Given the description of an element on the screen output the (x, y) to click on. 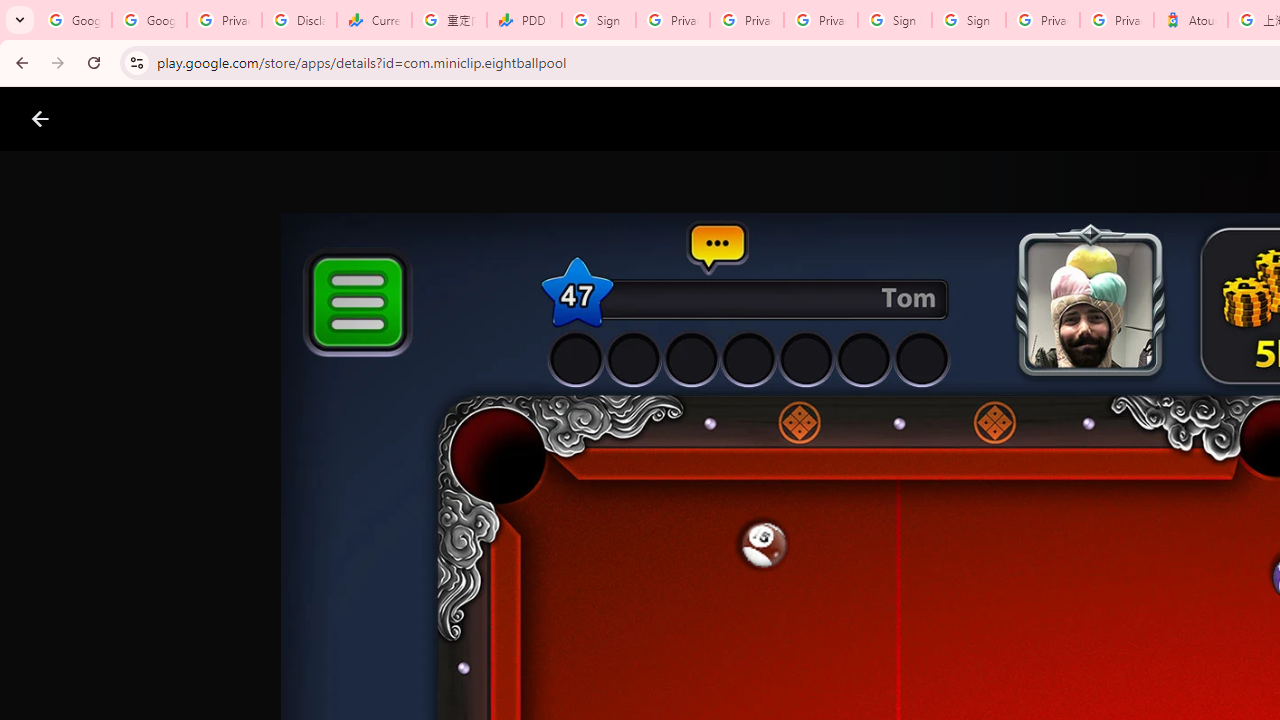
Games (248, 119)
Apps (321, 119)
Content rating (973, 656)
Google Play logo (111, 119)
Sign in - Google Accounts (598, 20)
Sign in - Google Accounts (968, 20)
Privacy Checkup (820, 20)
PDD Holdings Inc - ADR (PDD) Price & News - Google Finance (523, 20)
Miniclip.com (680, 586)
Privacy Checkup (747, 20)
